Given the description of an element on the screen output the (x, y) to click on. 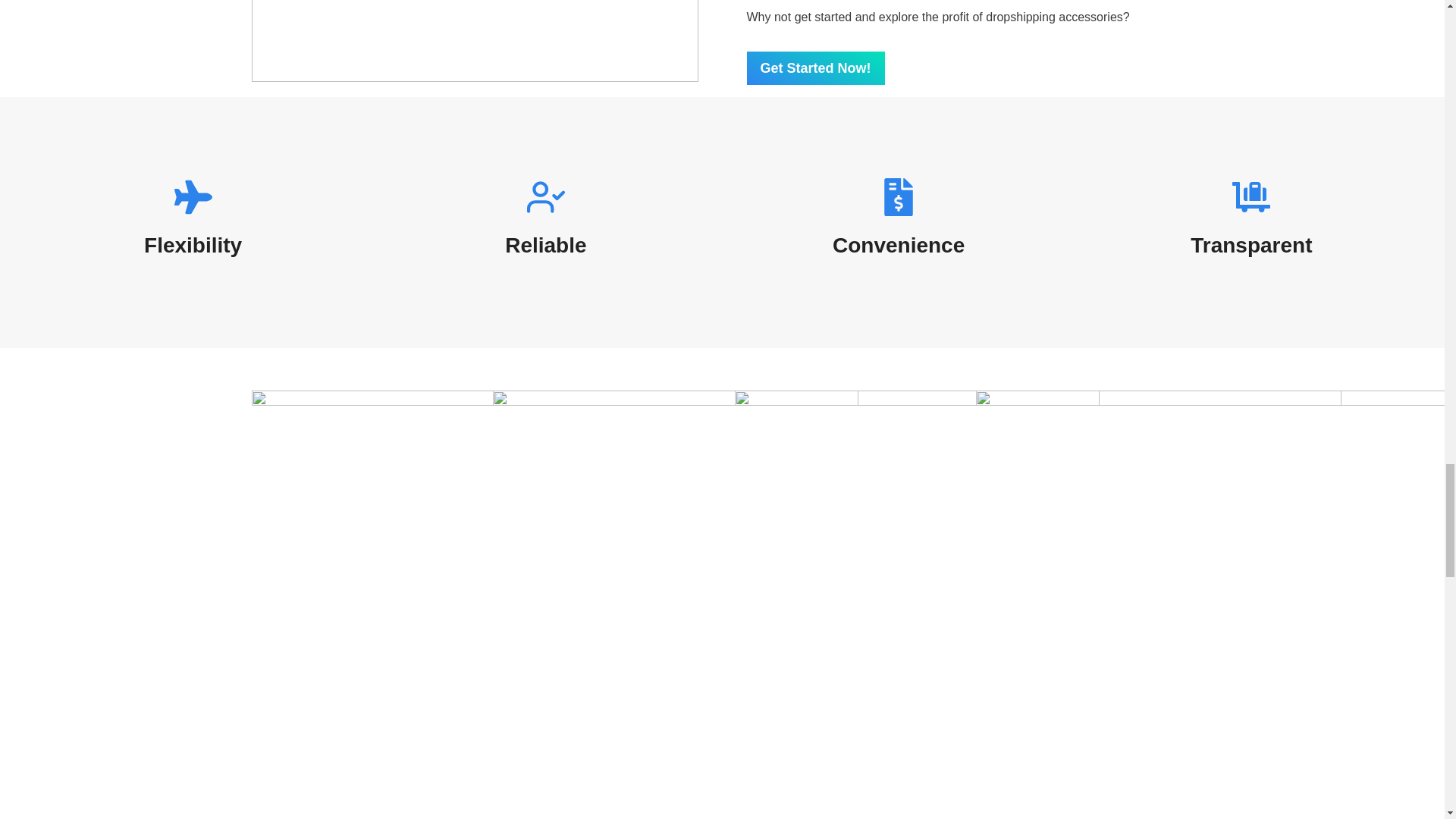
Get Started Now! (814, 67)
